Given the description of an element on the screen output the (x, y) to click on. 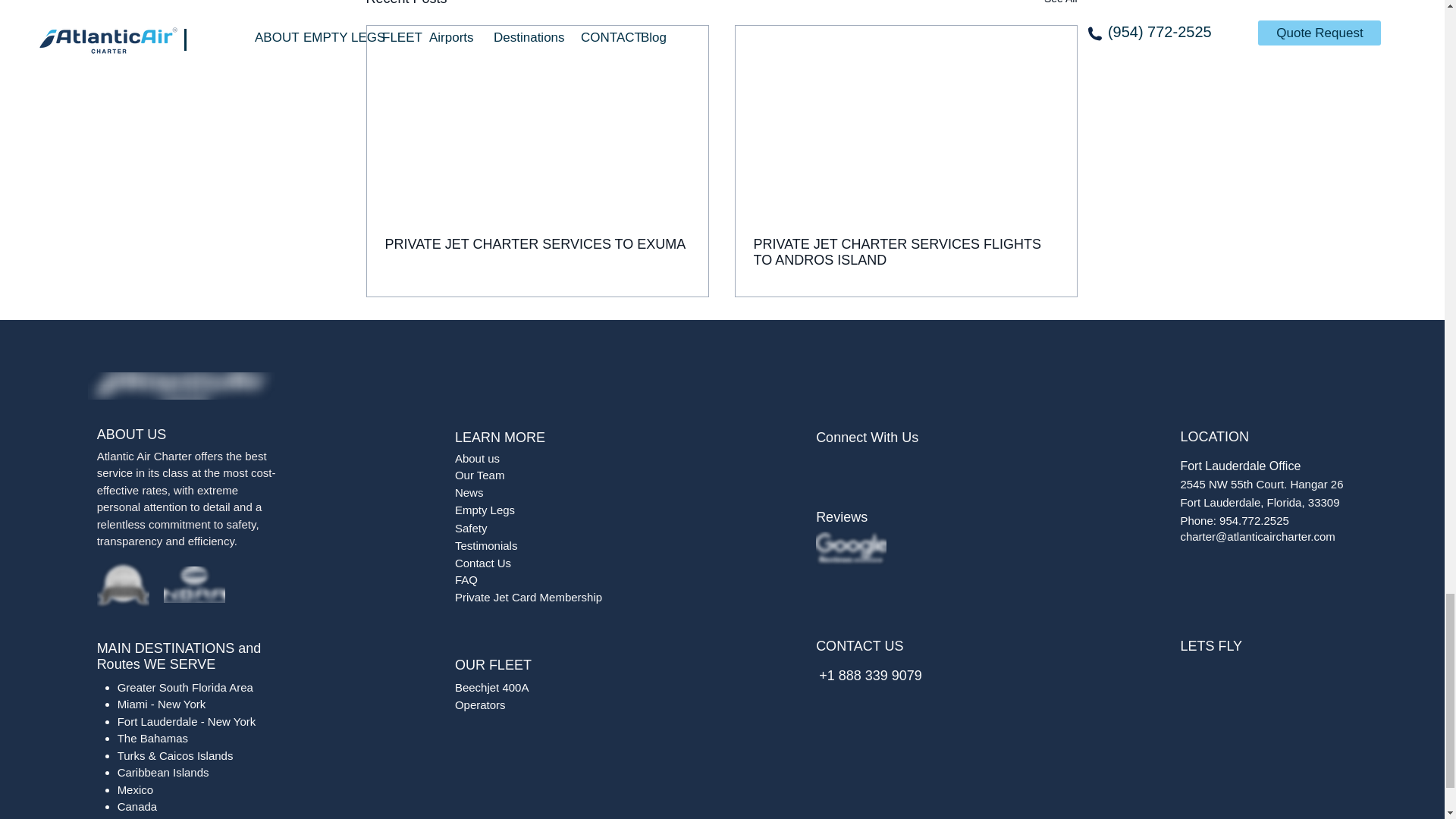
See All (1060, 4)
PRIVATE JET CHARTER SERVICES TO EXUMA (537, 244)
PRIVATE JET CHARTER SERVICES FLIGHTS TO ANDROS ISLAND (906, 252)
